Given the description of an element on the screen output the (x, y) to click on. 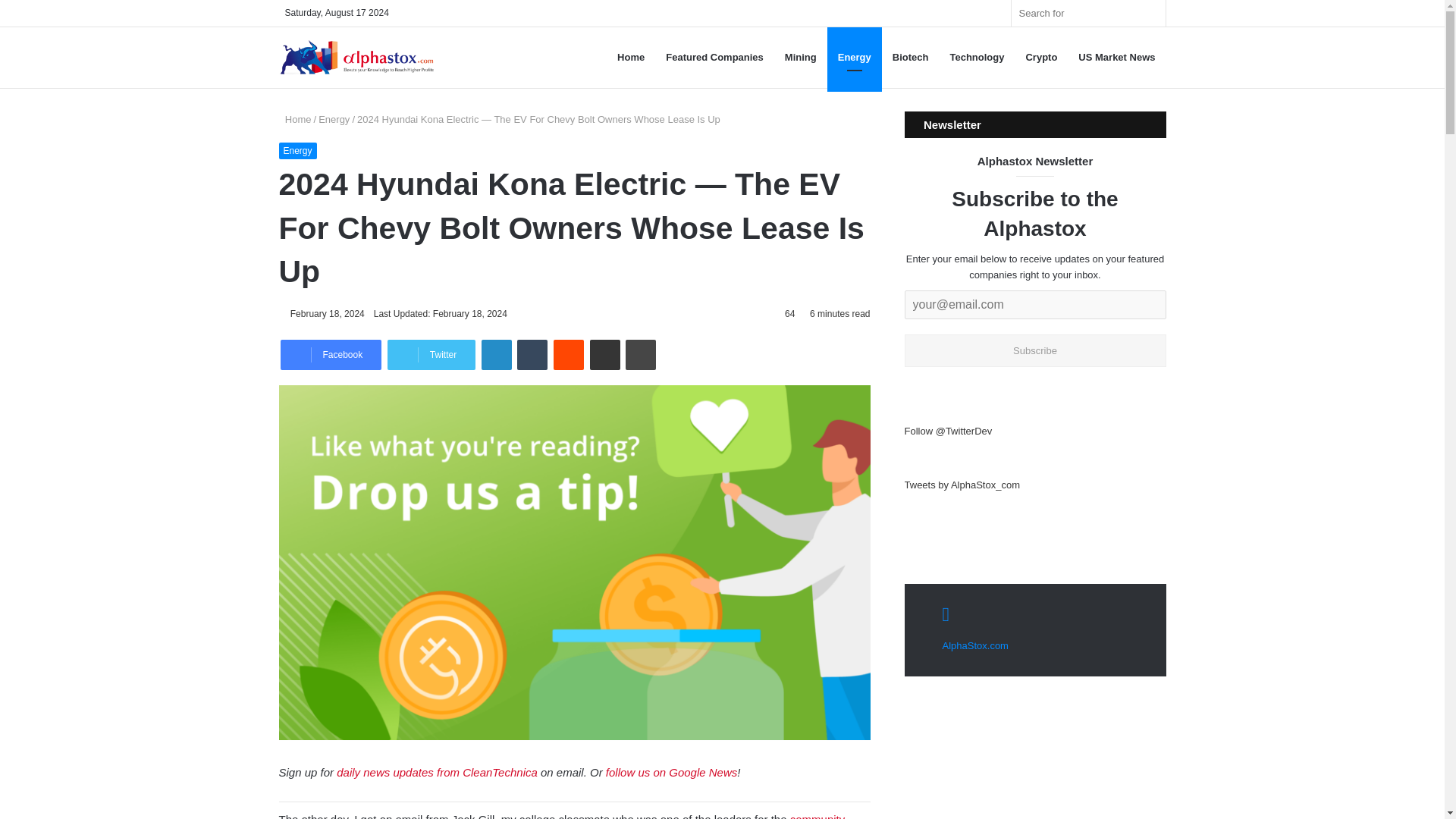
Home (295, 119)
Reddit (568, 354)
Featured Companies (714, 57)
Technology (976, 57)
Energy (854, 57)
follow us on Google News (670, 771)
Share via Email (604, 354)
Twitter (431, 354)
Energy (333, 119)
Energy (298, 150)
